Given the description of an element on the screen output the (x, y) to click on. 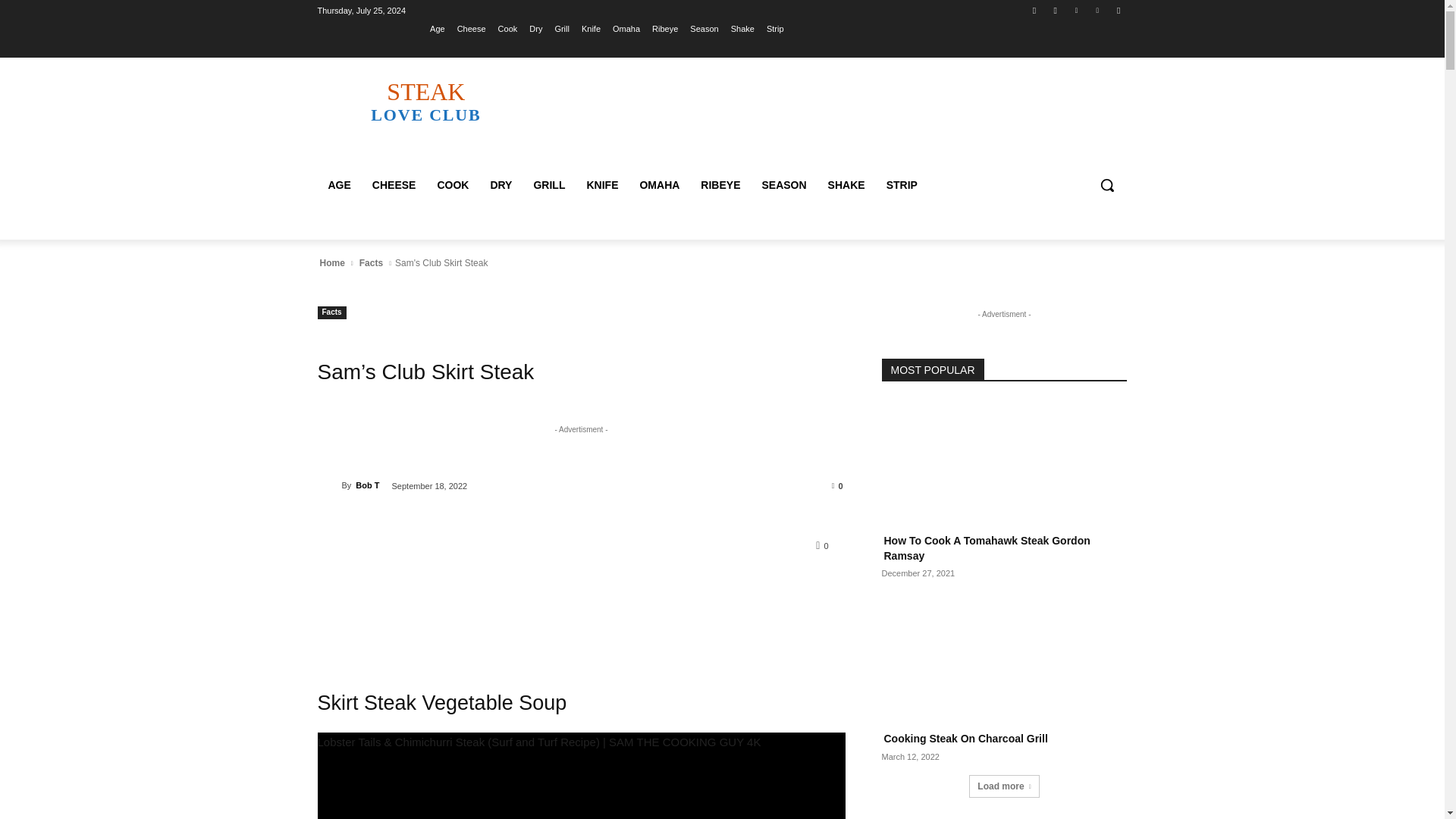
Cheese (471, 28)
View all posts in Facts (370, 263)
Youtube (1117, 9)
AGE (339, 185)
CHEESE (425, 100)
Vimeo (393, 185)
Bob T (1097, 9)
Instagram (328, 485)
Season (1055, 9)
Twitter (703, 28)
Ribeye (1075, 9)
Facebook (665, 28)
Shake (1034, 9)
Cook (742, 28)
